Given the description of an element on the screen output the (x, y) to click on. 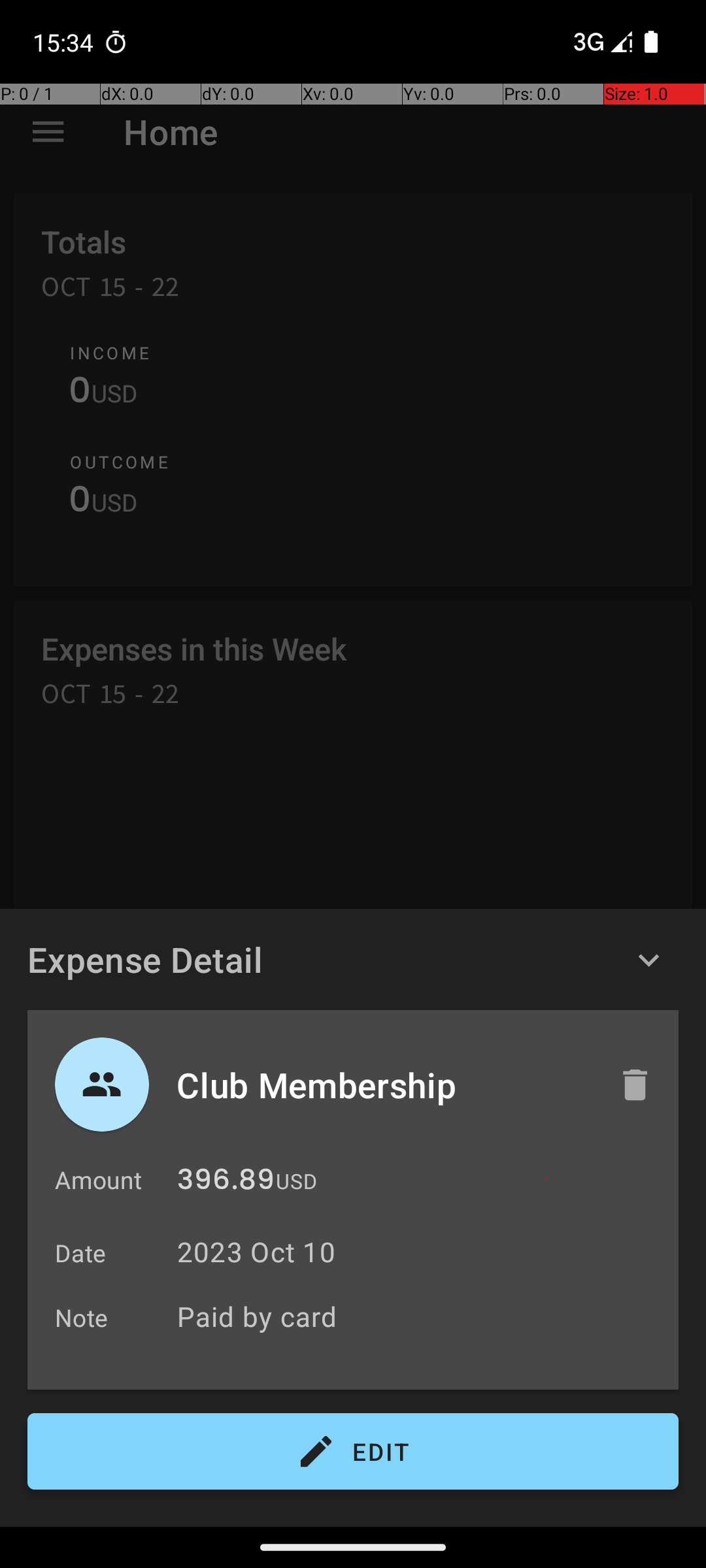
Club Membership Element type: android.widget.TextView (383, 1084)
396.89 Element type: android.widget.TextView (225, 1182)
